Given the description of an element on the screen output the (x, y) to click on. 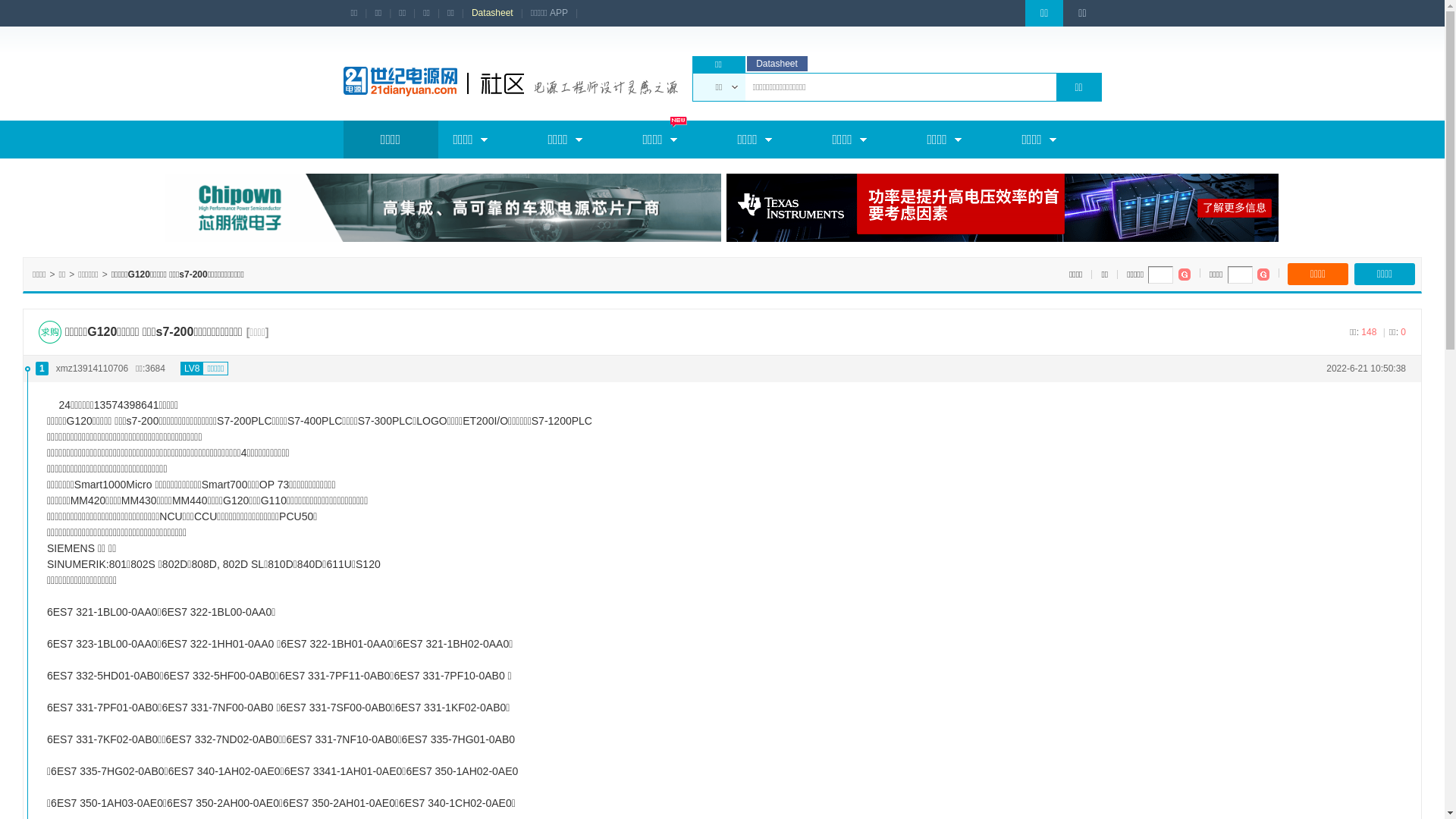
Datasheet Element type: text (492, 13)
Datasheet Element type: text (776, 63)
1 Element type: text (41, 367)
